Given the description of an element on the screen output the (x, y) to click on. 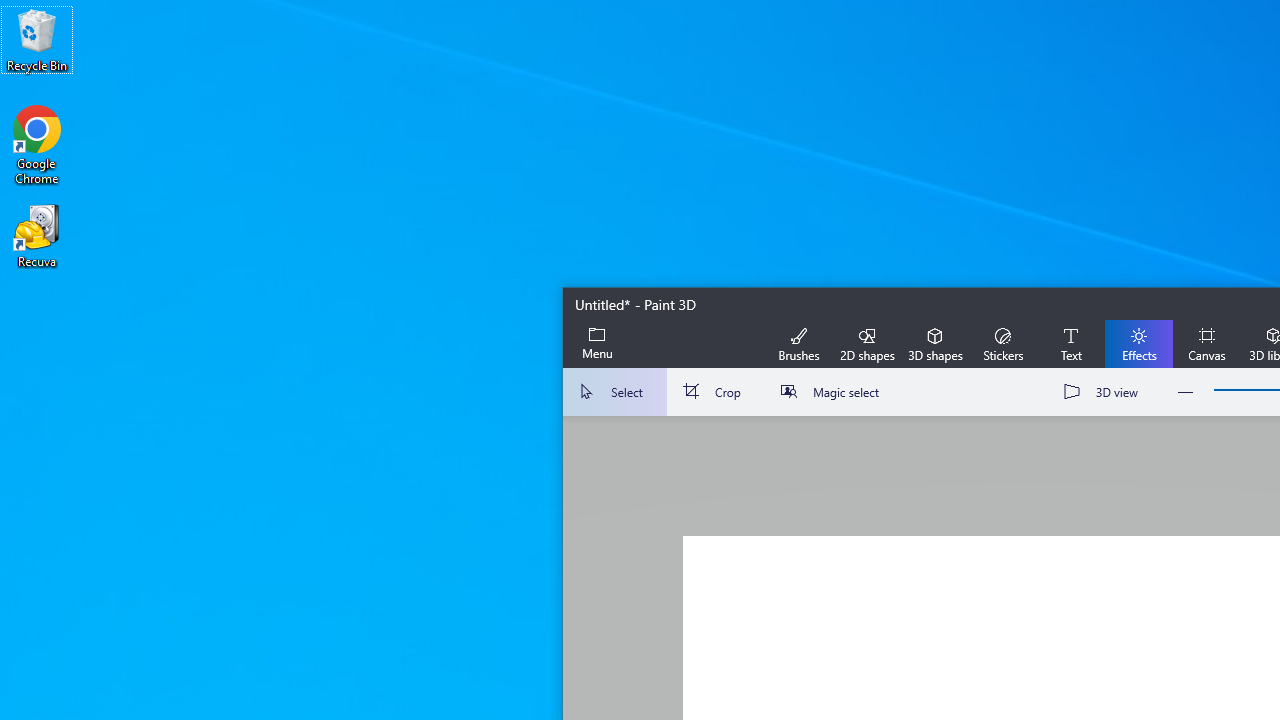
Recycle Bin (37, 39)
Google Chrome (37, 144)
Recuva (37, 235)
